Given the description of an element on the screen output the (x, y) to click on. 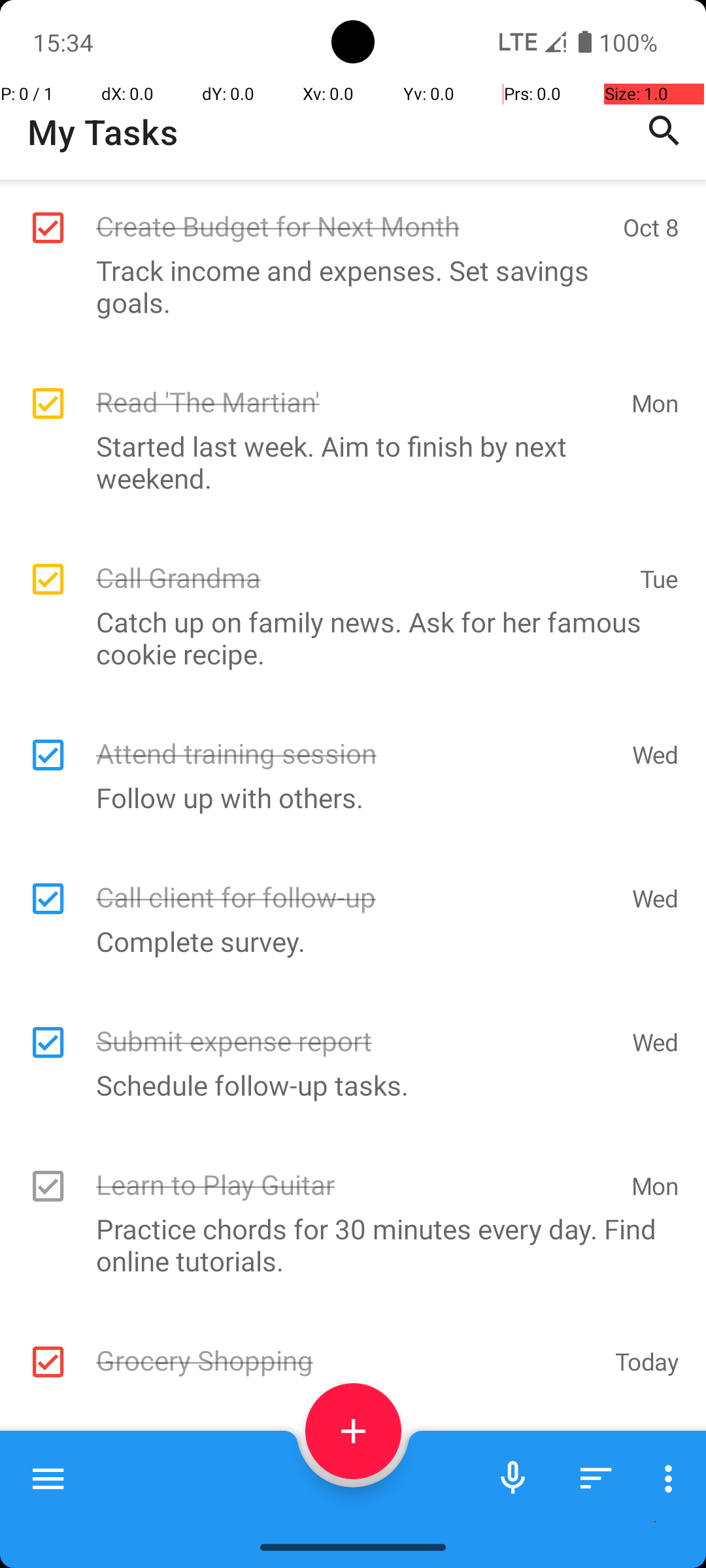
Track income and expenses. Set savings goals. Element type: android.widget.TextView (346, 285)
Started last week. Aim to finish by next weekend. Element type: android.widget.TextView (346, 461)
Catch up on family news. Ask for her famous cookie recipe. Element type: android.widget.TextView (346, 637)
Attend training session Element type: android.widget.TextView (357, 738)
Follow up with others. Element type: android.widget.TextView (346, 797)
Call client for follow-up Element type: android.widget.TextView (357, 882)
Complete survey. Element type: android.widget.TextView (346, 940)
Submit expense report Element type: android.widget.TextView (357, 1026)
Schedule follow-up tasks. Element type: android.widget.TextView (346, 1084)
Practice chords for 30 minutes every day. Find online tutorials. Element type: android.widget.TextView (346, 1244)
